Given the description of an element on the screen output the (x, y) to click on. 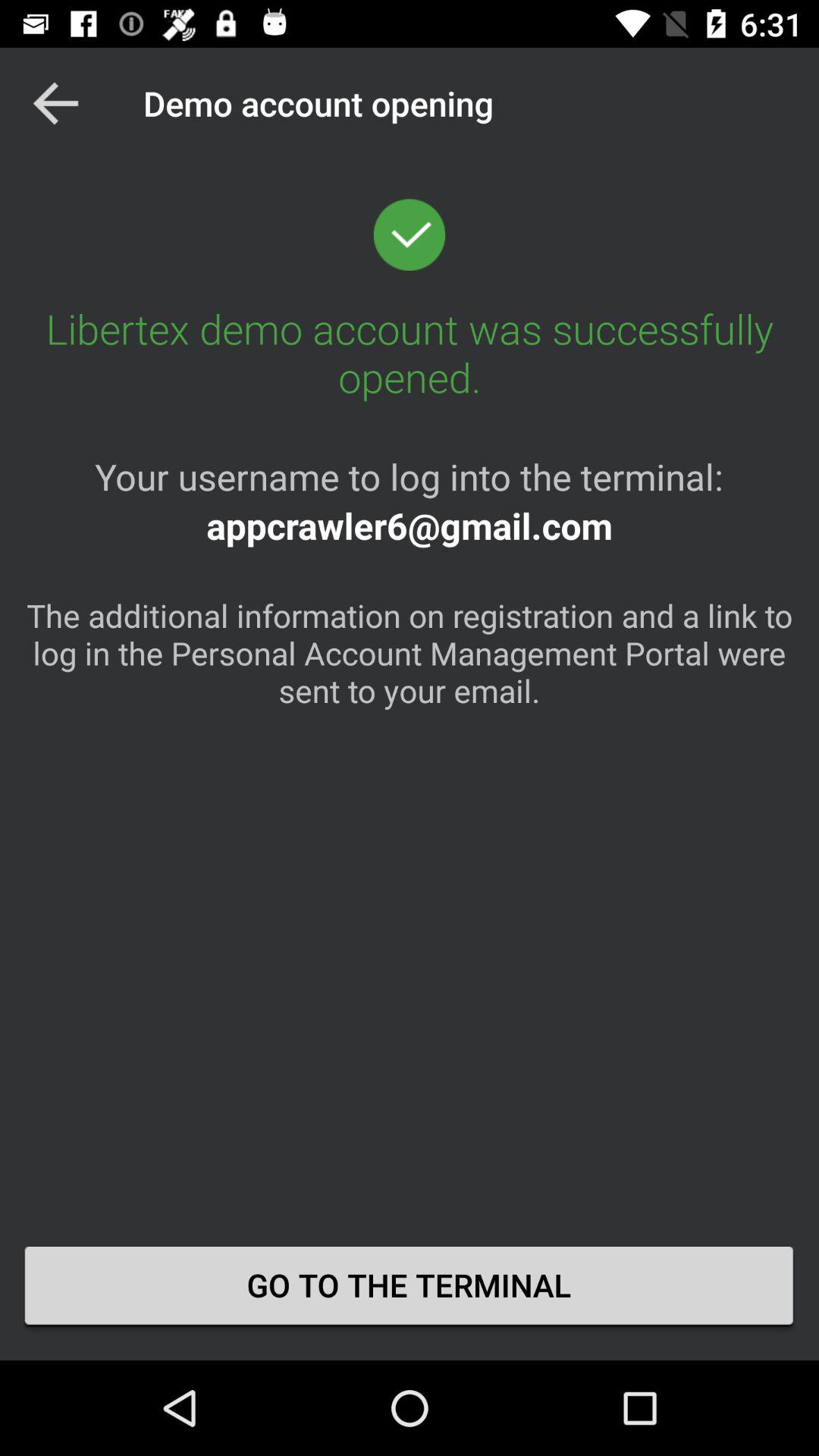
press icon above the libertex demo account (55, 103)
